Given the description of an element on the screen output the (x, y) to click on. 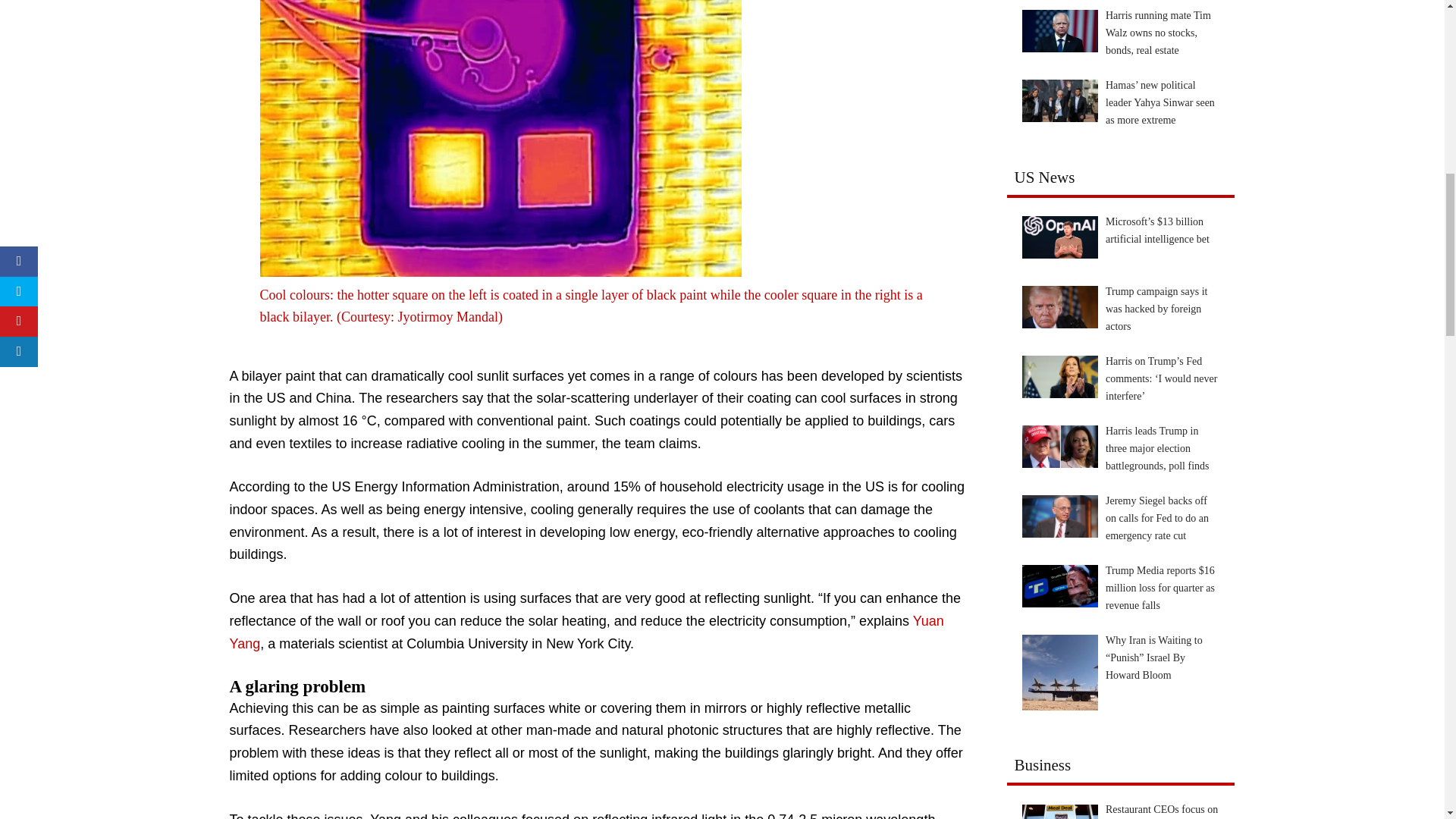
Trump campaign says it was hacked by foreign actors (1059, 306)
Bilayer coating (500, 138)
